Given the description of an element on the screen output the (x, y) to click on. 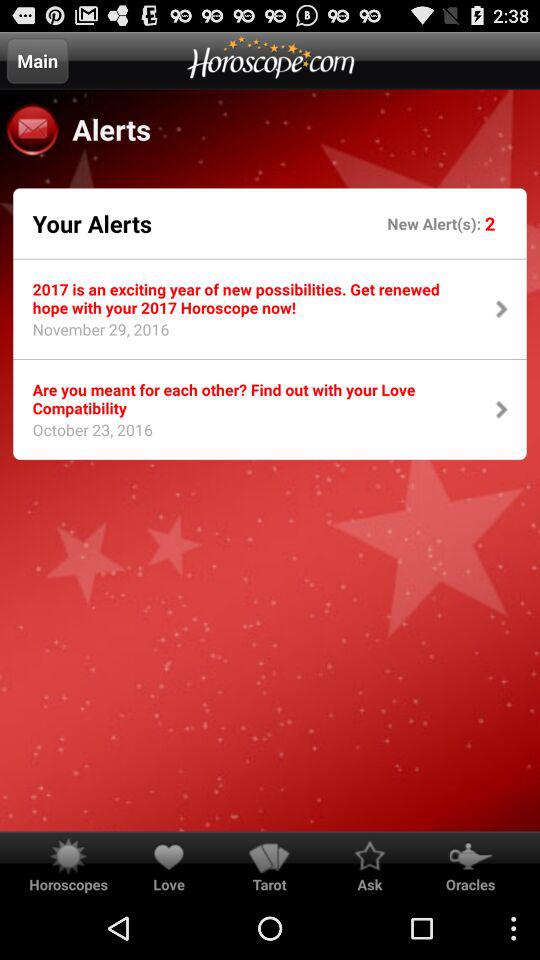
launch item next to your alerts (435, 222)
